Given the description of an element on the screen output the (x, y) to click on. 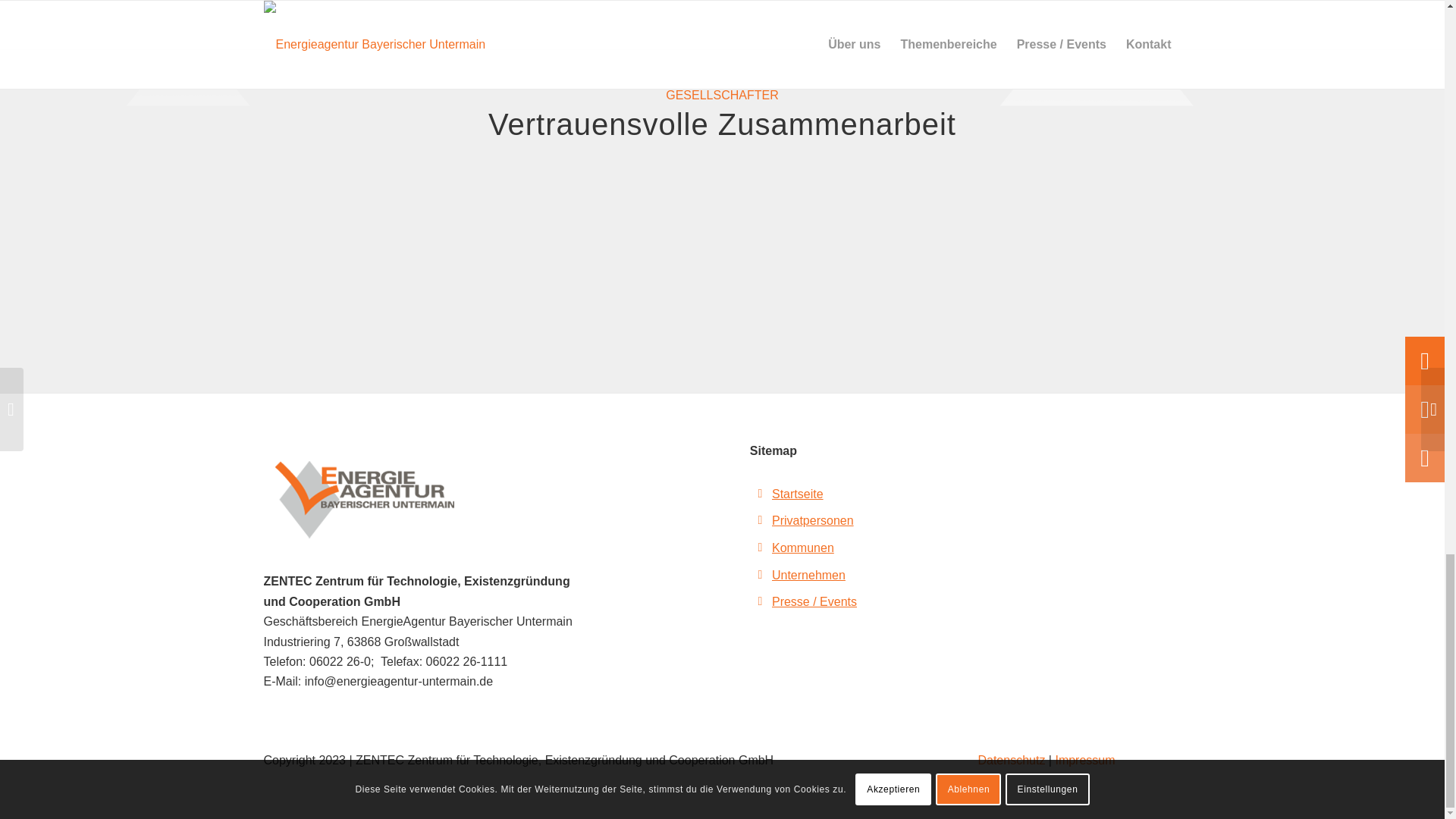
Startseite (797, 493)
Privatpersonen (812, 520)
Kommunen (802, 547)
Startseite  (797, 493)
Unternehmen (808, 574)
